Given the description of an element on the screen output the (x, y) to click on. 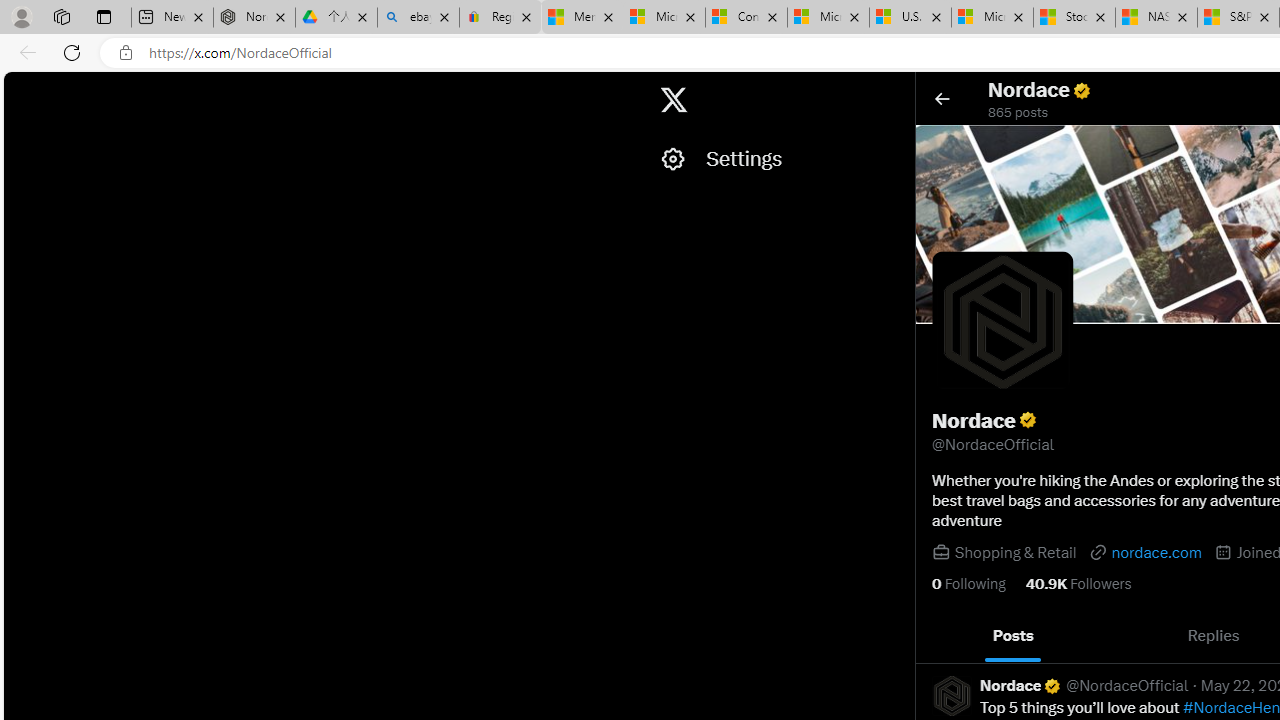
@NordaceOfficial (1127, 685)
Nordace Verified account (1021, 685)
0 Following (968, 583)
